Given the description of an element on the screen output the (x, y) to click on. 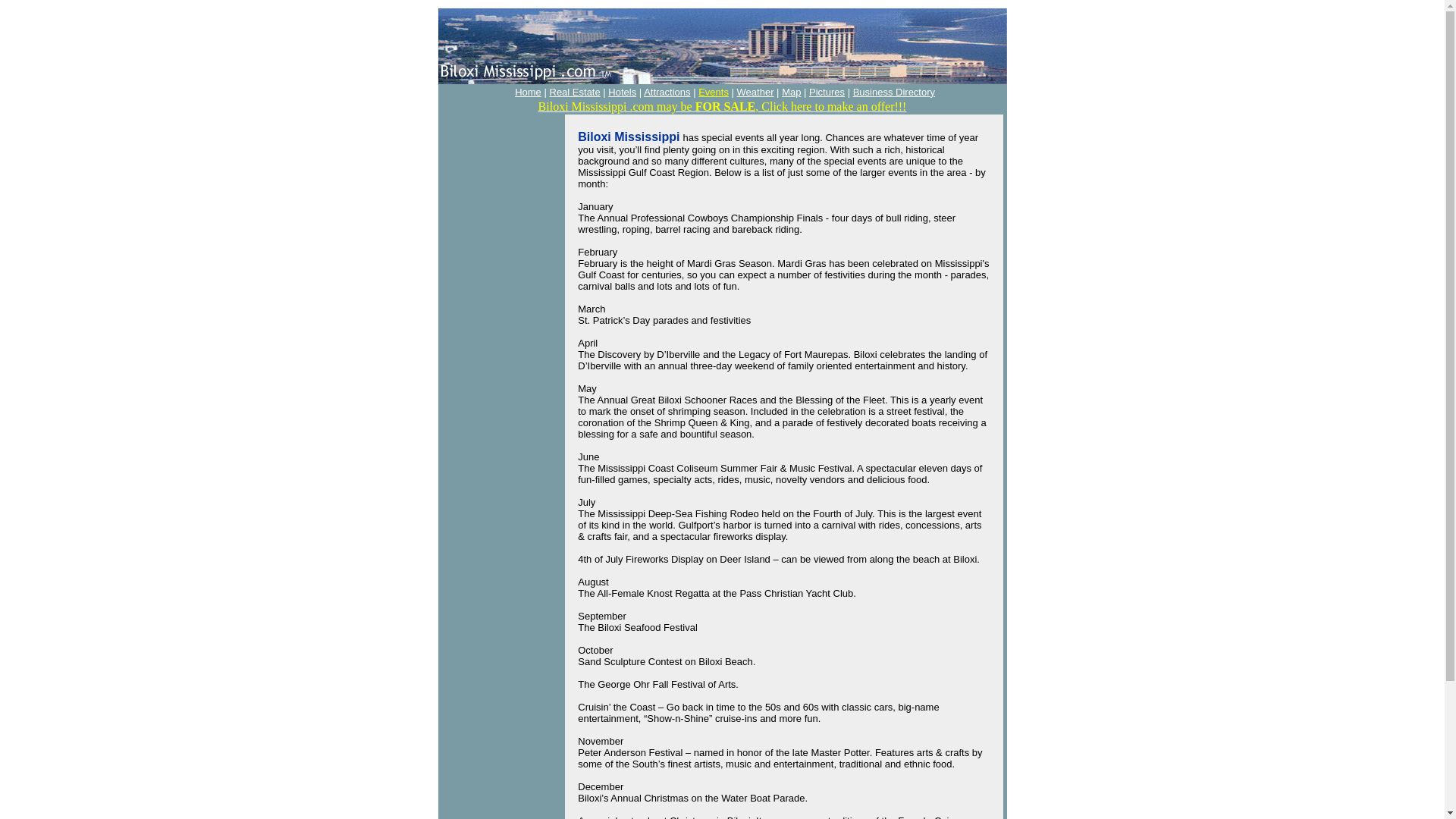
Events (713, 91)
Pictures (826, 91)
Attractions (666, 91)
Hotels (622, 91)
Business Directory (893, 91)
Weather (755, 91)
Map (790, 91)
Real Estate (573, 91)
Home (528, 91)
